Given the description of an element on the screen output the (x, y) to click on. 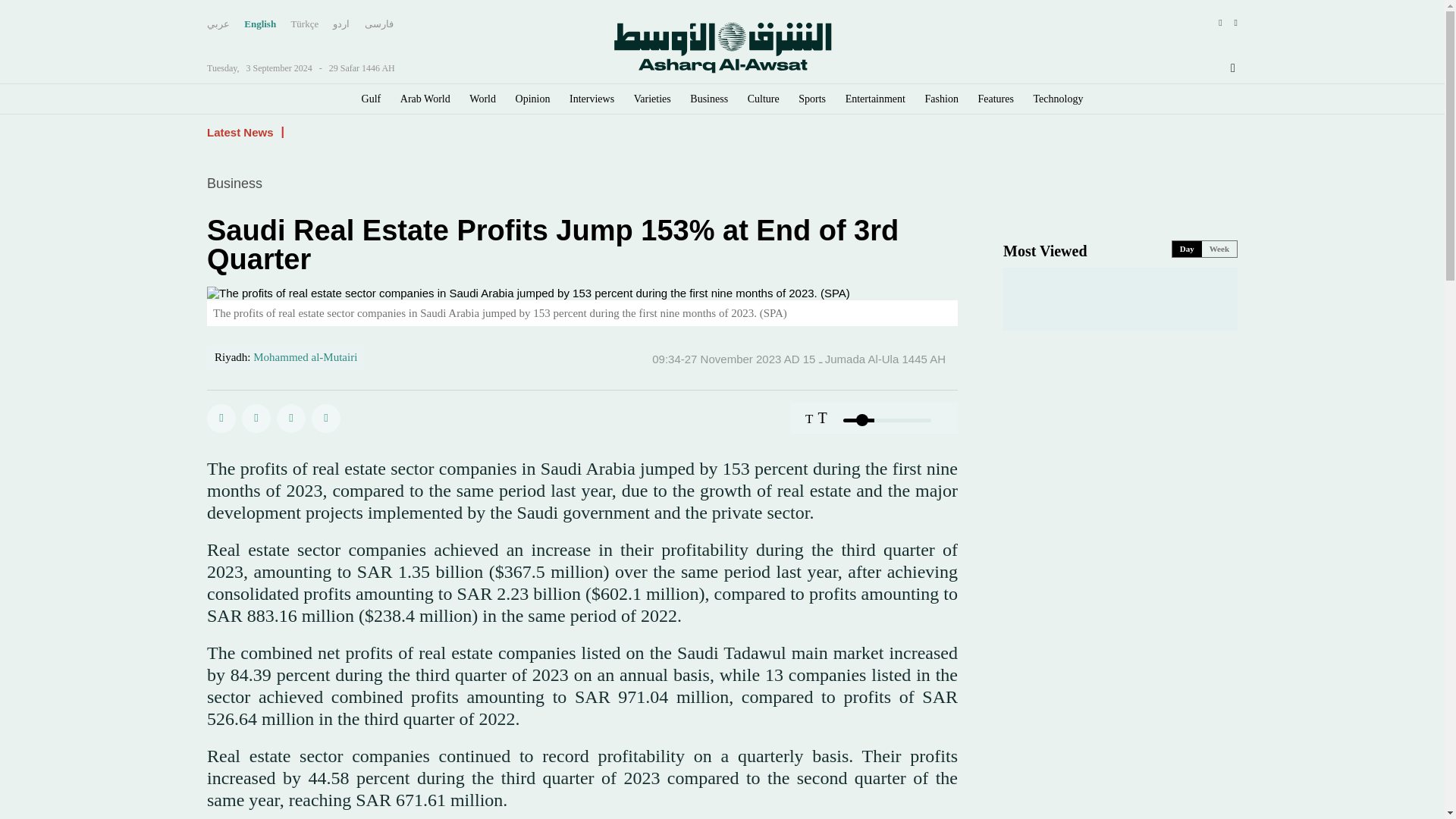
Opinion (532, 99)
English (260, 24)
Culture (763, 99)
Entertainment (875, 99)
Fashion (941, 99)
20 (887, 420)
Business (709, 99)
Technology (1058, 99)
Sports (811, 99)
Arab World (424, 99)
